Given the description of an element on the screen output the (x, y) to click on. 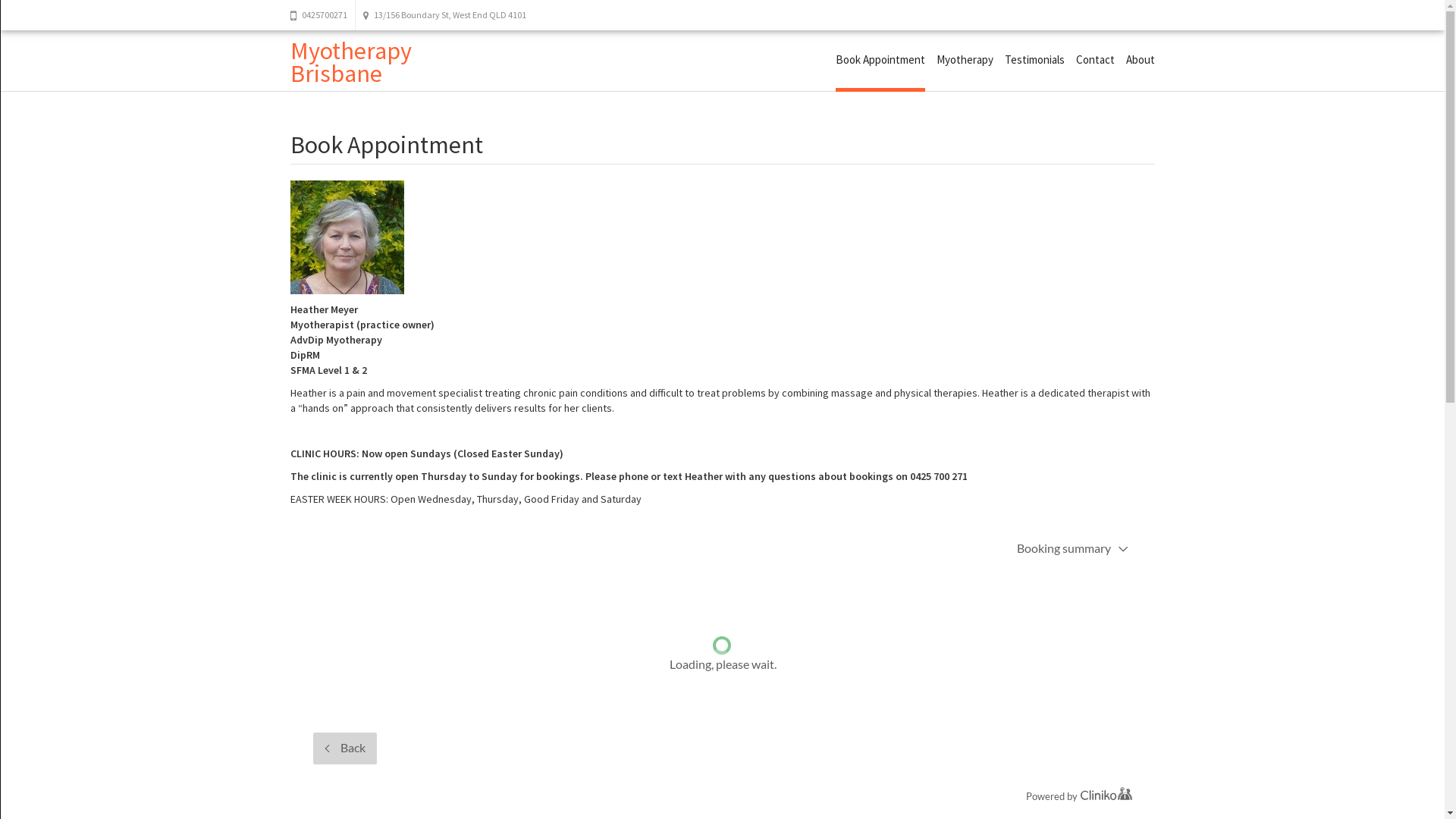
Myotherapy Brisbane Element type: text (350, 61)
0425700271 Element type: text (321, 15)
13/156 Boundary St, West End QLD 4101 Element type: text (443, 15)
Book Appointment Element type: text (880, 61)
Testimonials Element type: text (1033, 59)
Contact Element type: text (1094, 59)
Myotherapy Element type: text (963, 59)
About Element type: text (1139, 59)
